Given the description of an element on the screen output the (x, y) to click on. 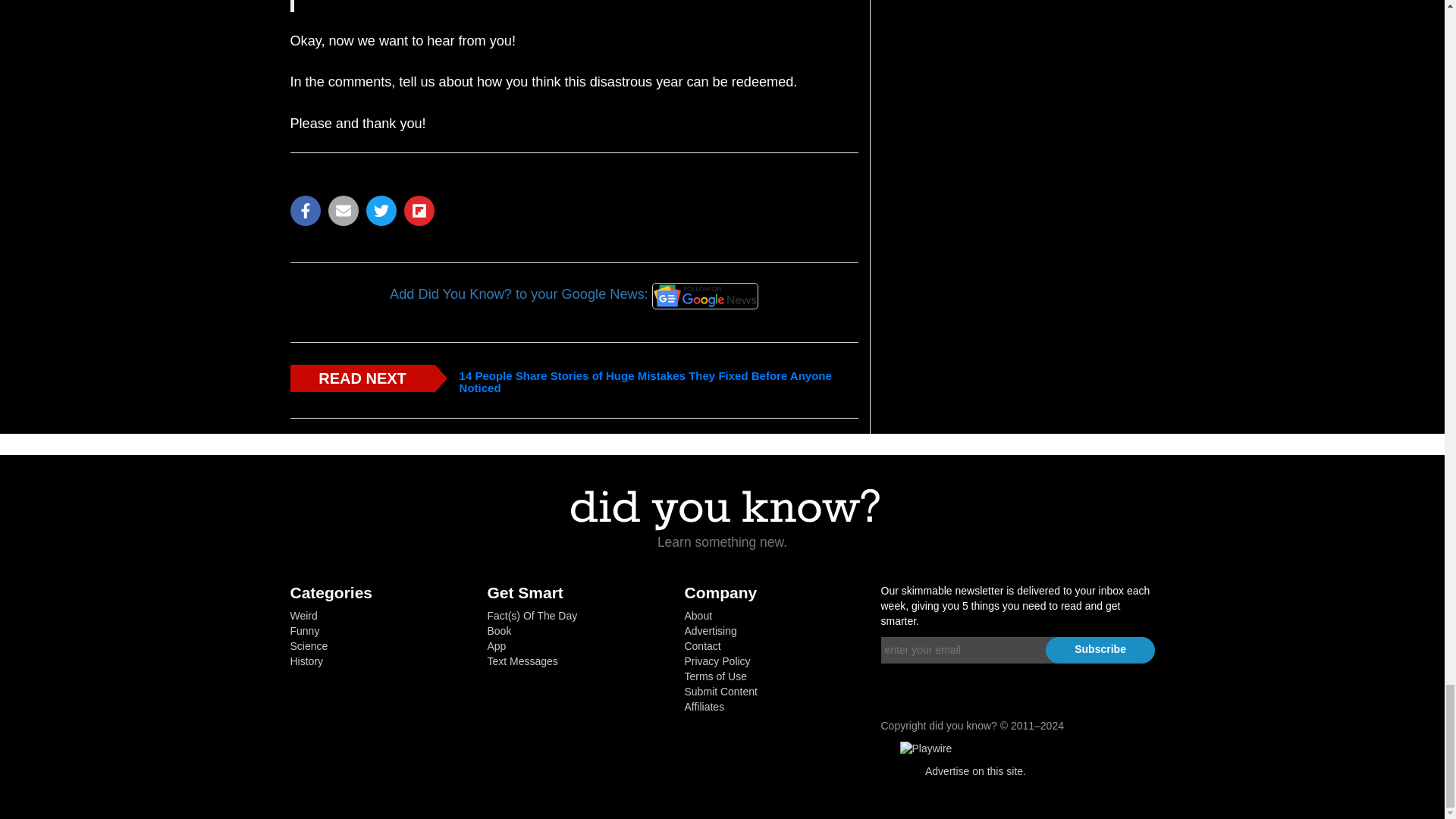
Subscribe (1100, 650)
READ NEXT (361, 378)
Google News (705, 295)
Add Did You Know? to your Google News: (573, 295)
